Given the description of an element on the screen output the (x, y) to click on. 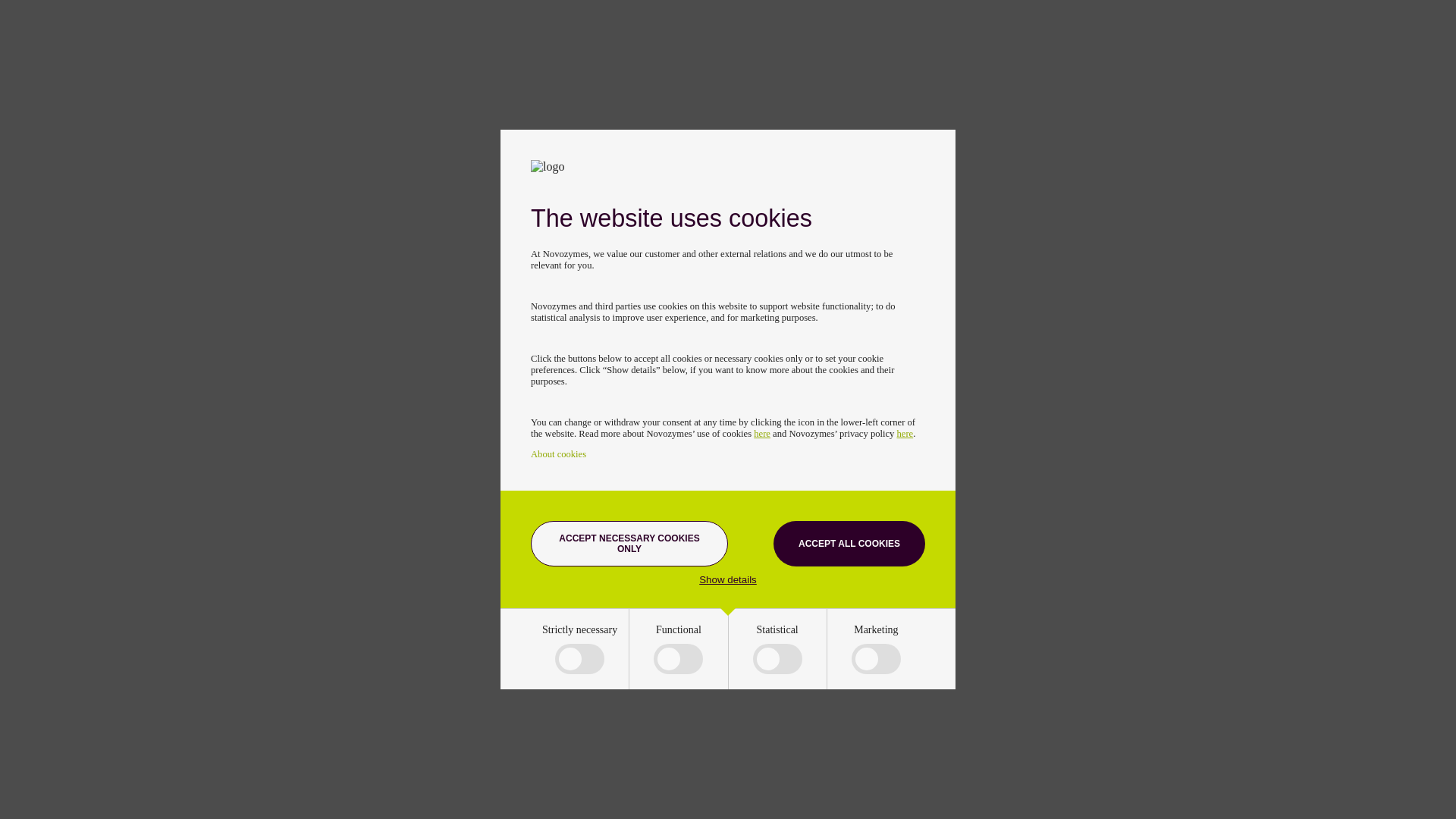
Show details (727, 579)
ACCEPT NECESSARY COOKIES ONLY (629, 543)
here (762, 433)
About cookies (558, 453)
here (905, 433)
ACCEPT ALL COOKIES (848, 543)
